Given the description of an element on the screen output the (x, y) to click on. 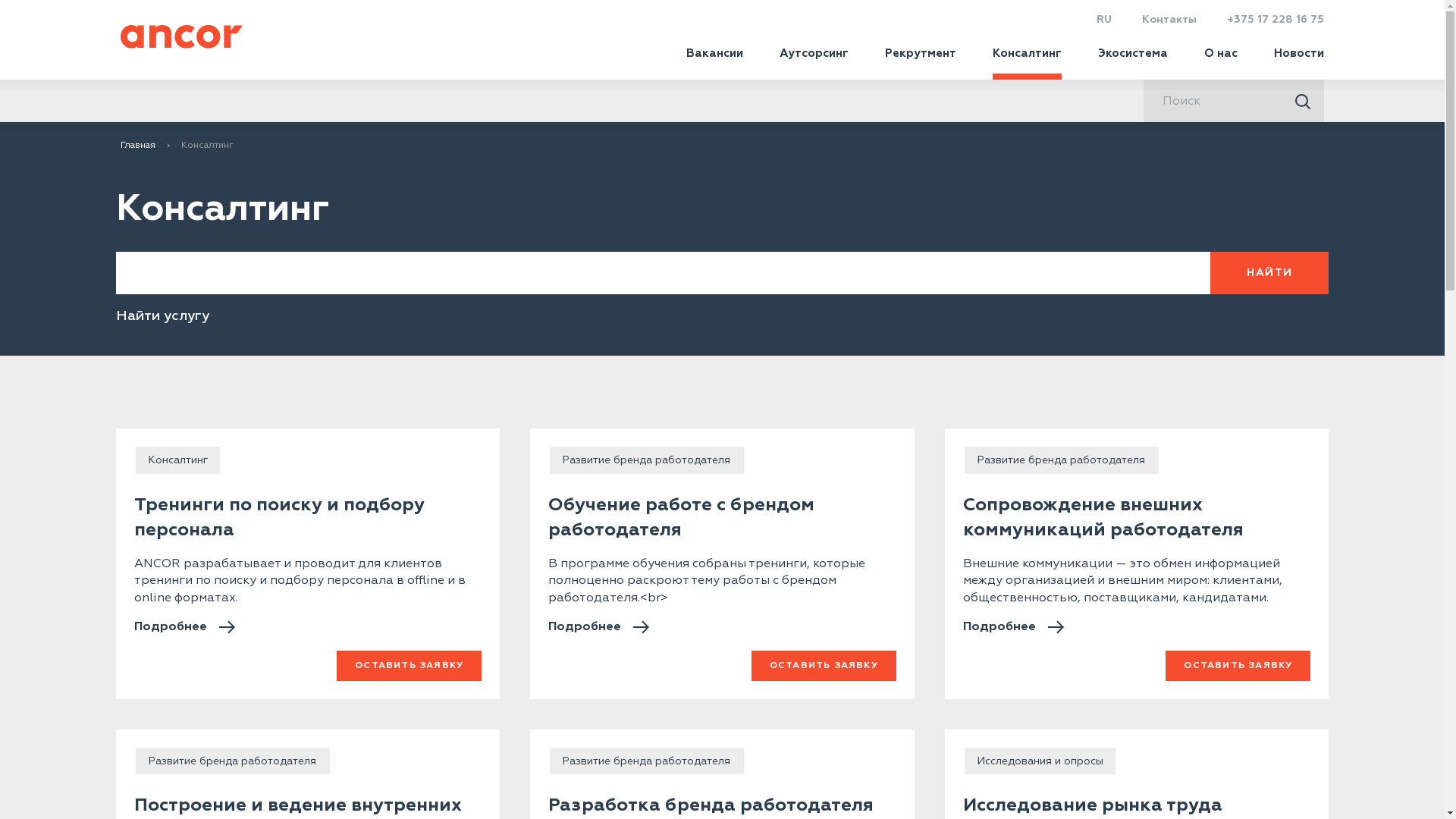
+375 17 228 16 75 Element type: text (1275, 18)
